Given the description of an element on the screen output the (x, y) to click on. 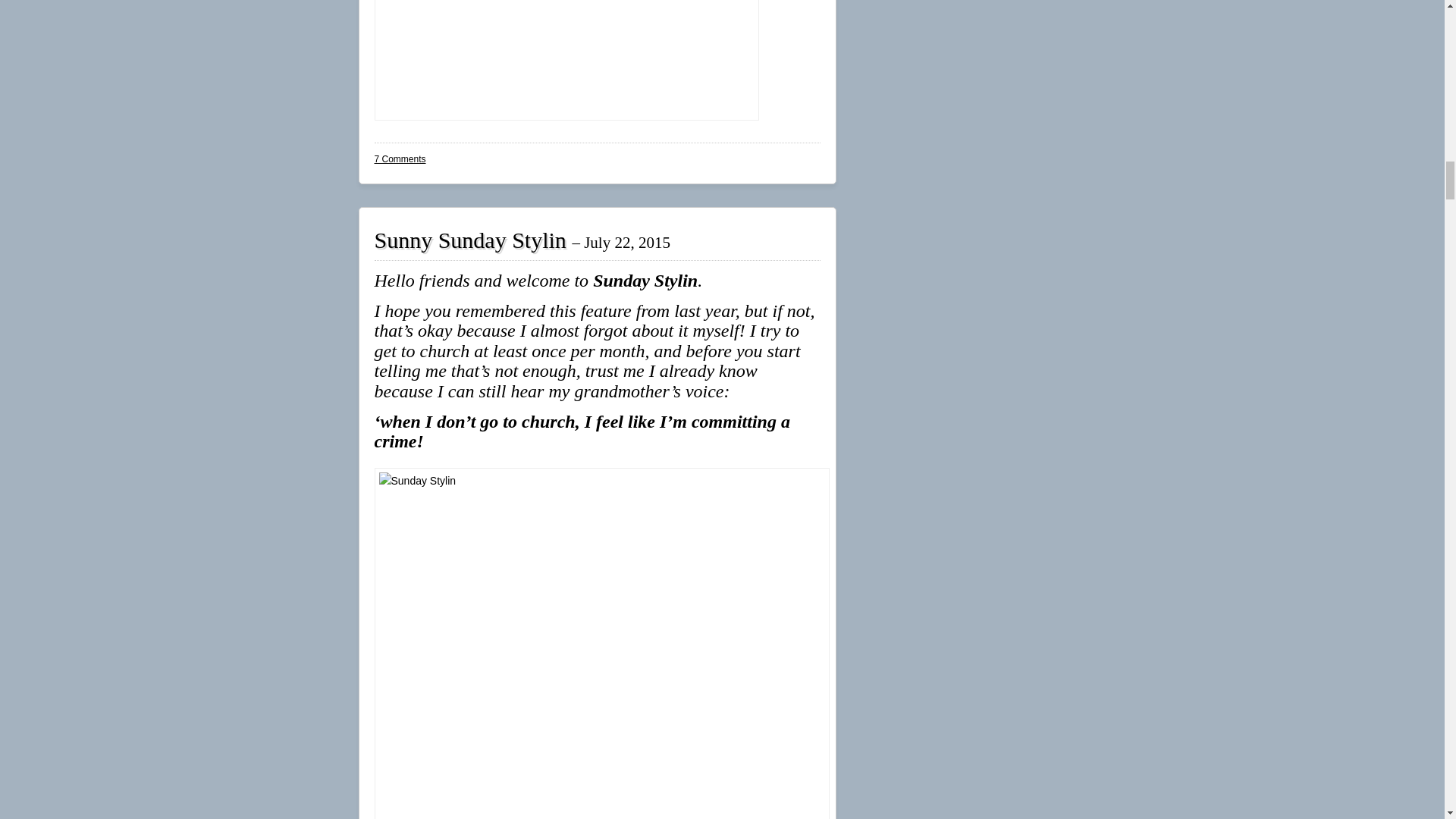
7 Comments (400, 158)
Sunny Sunday Stylin July 22, 2015 (521, 239)
